Given the description of an element on the screen output the (x, y) to click on. 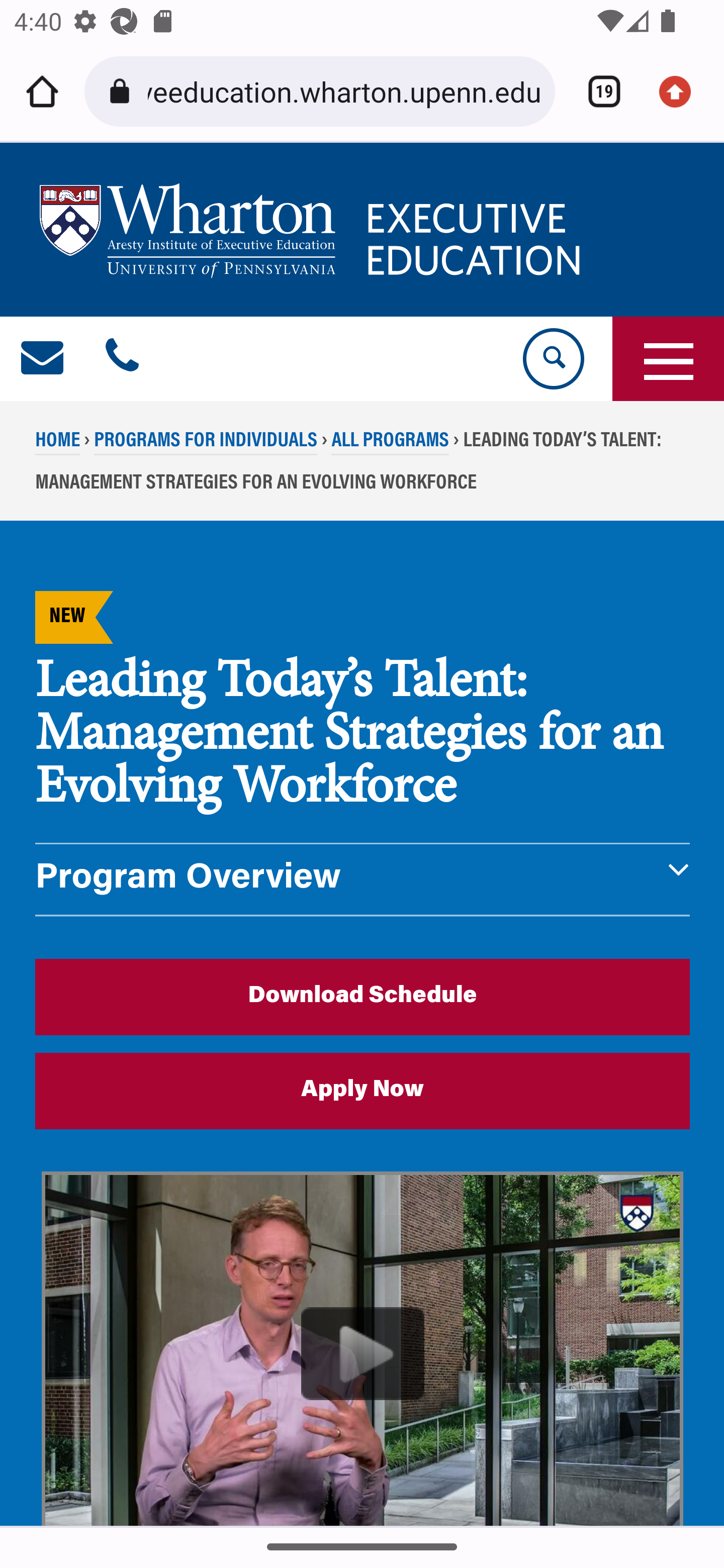
Home (42, 91)
Connection is secure (122, 91)
Switch or close tabs (597, 91)
Update available. More options (681, 91)
Wharton Executive Education (313, 230)
 (43, 358)
 (122, 358)
Mobile menu toggle (668, 358)
 Search Wharton  (552, 358)
HOME (58, 441)
PROGRAMS FOR INDIVIDUALS (205, 441)
ALL PROGRAMS (390, 441)
Program Overview  (362, 879)
Download Schedule (363, 996)
Apply Now (363, 1090)
Play video content LEAD Overview - Matthew Bidwell (363, 1349)
